Given the description of an element on the screen output the (x, y) to click on. 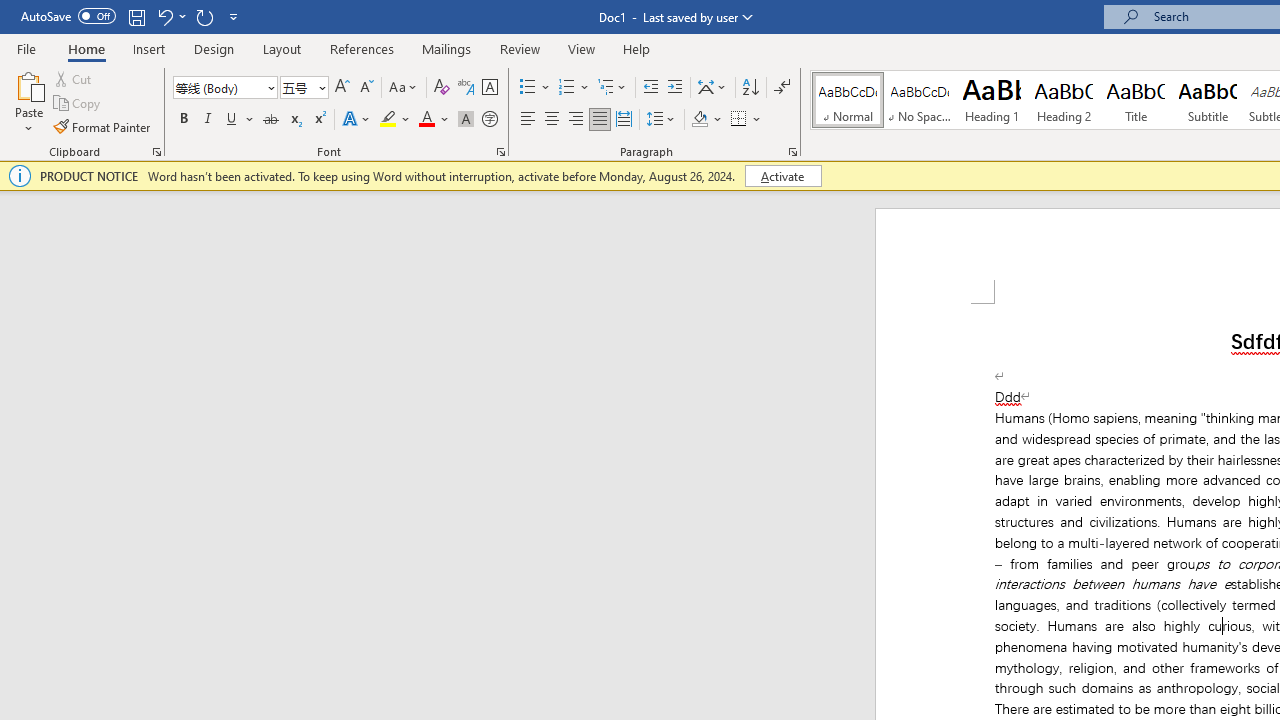
Repeat Italic (204, 15)
Undo Italic (170, 15)
